Given the description of an element on the screen output the (x, y) to click on. 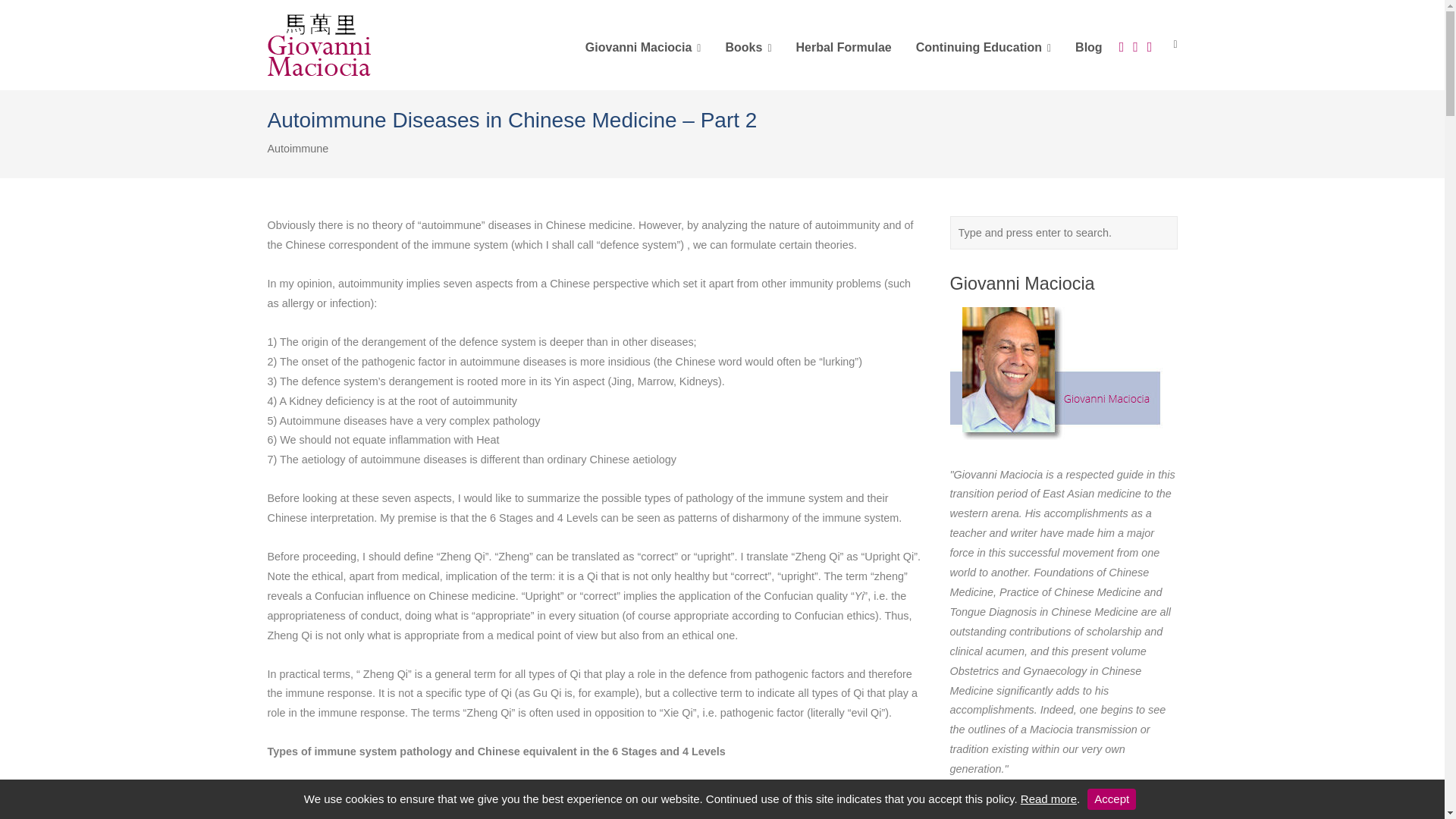
Giovanni Maciocia (643, 45)
View all posts in Autoimmune (297, 148)
